Given the description of an element on the screen output the (x, y) to click on. 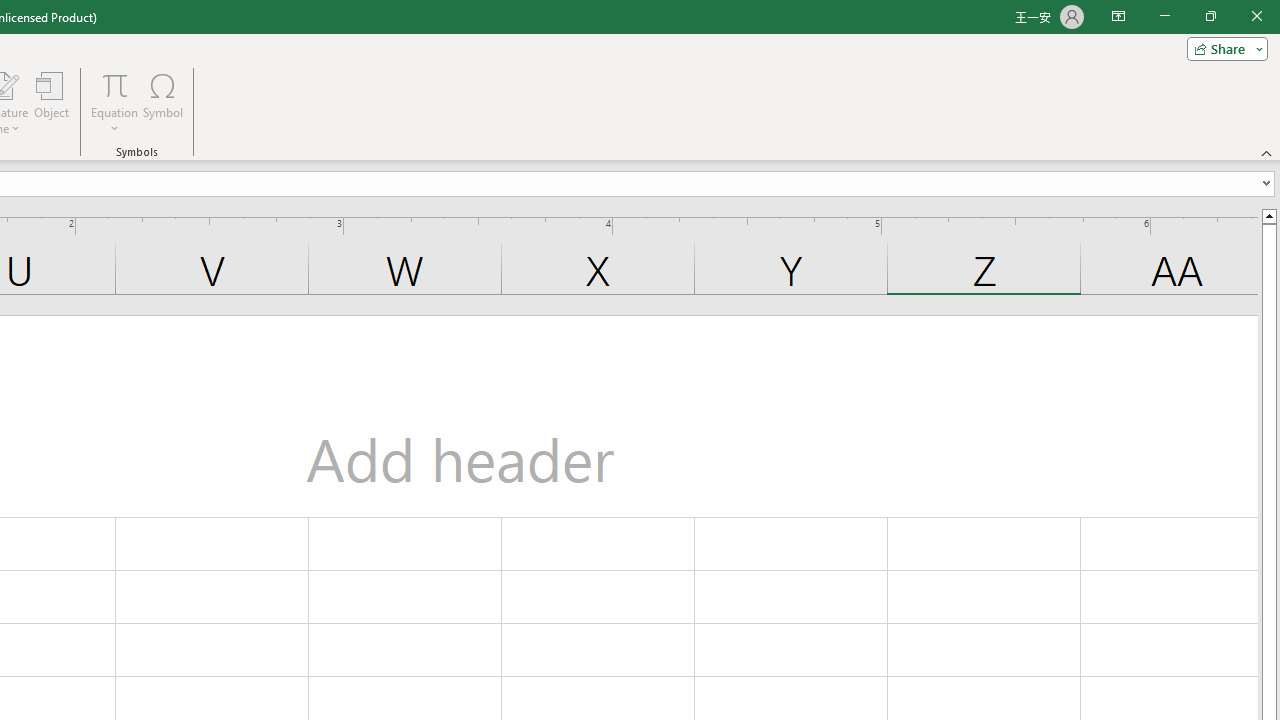
Object... (51, 102)
Symbol... (162, 102)
Equation (114, 102)
Equation (114, 84)
